Given the description of an element on the screen output the (x, y) to click on. 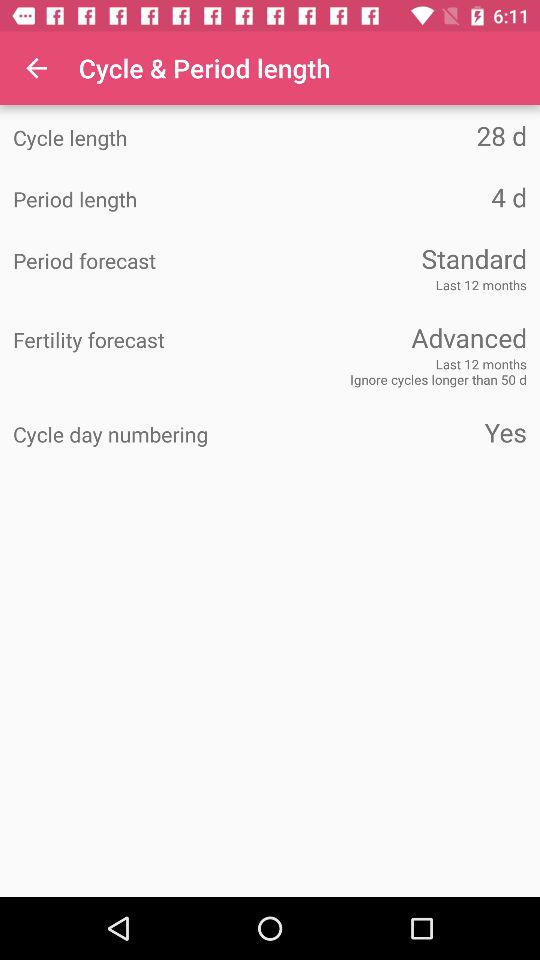
select icon to the right of the period forecast item (398, 258)
